Given the description of an element on the screen output the (x, y) to click on. 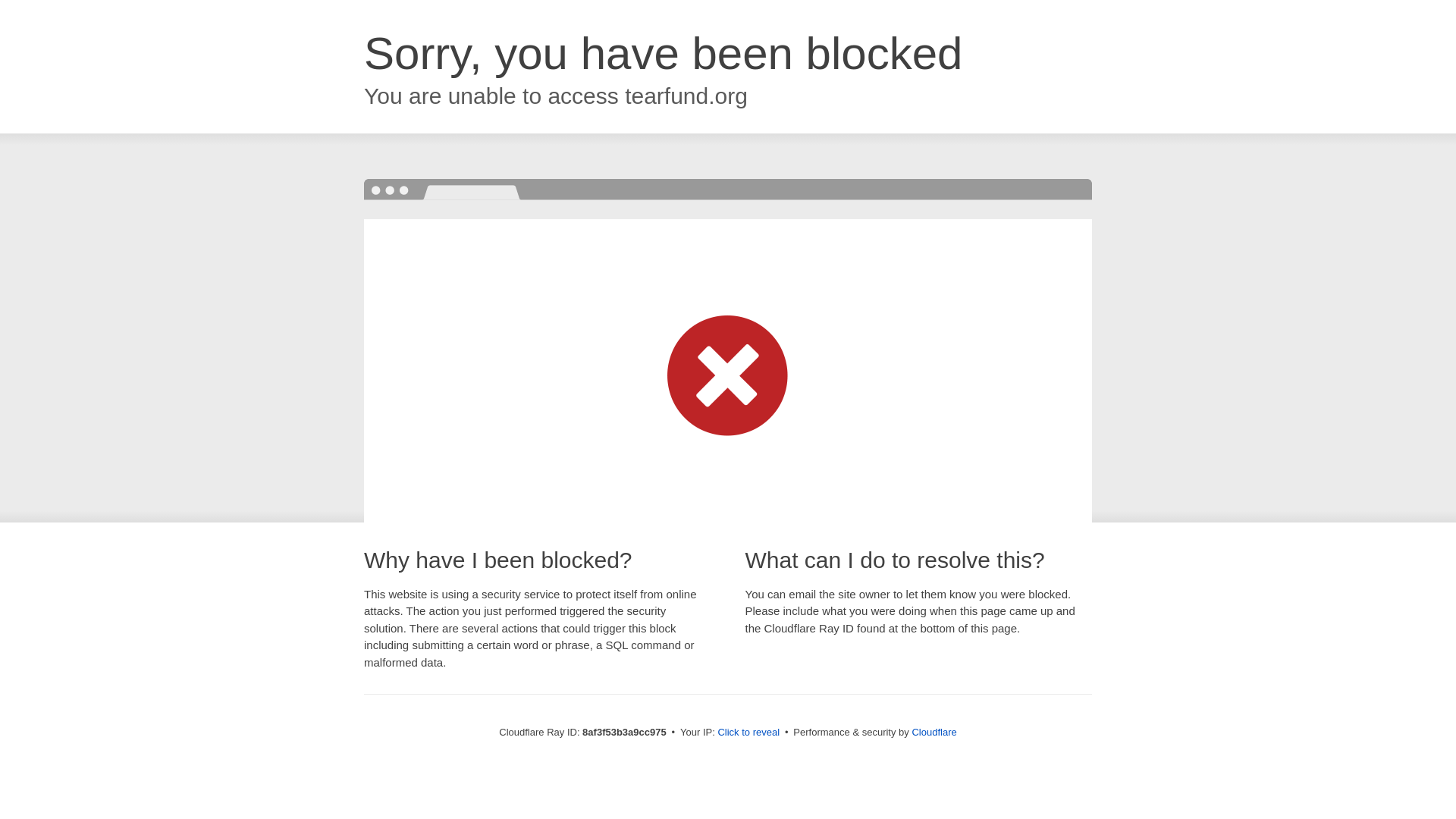
Click to reveal (747, 732)
Cloudflare (933, 731)
